Given the description of an element on the screen output the (x, y) to click on. 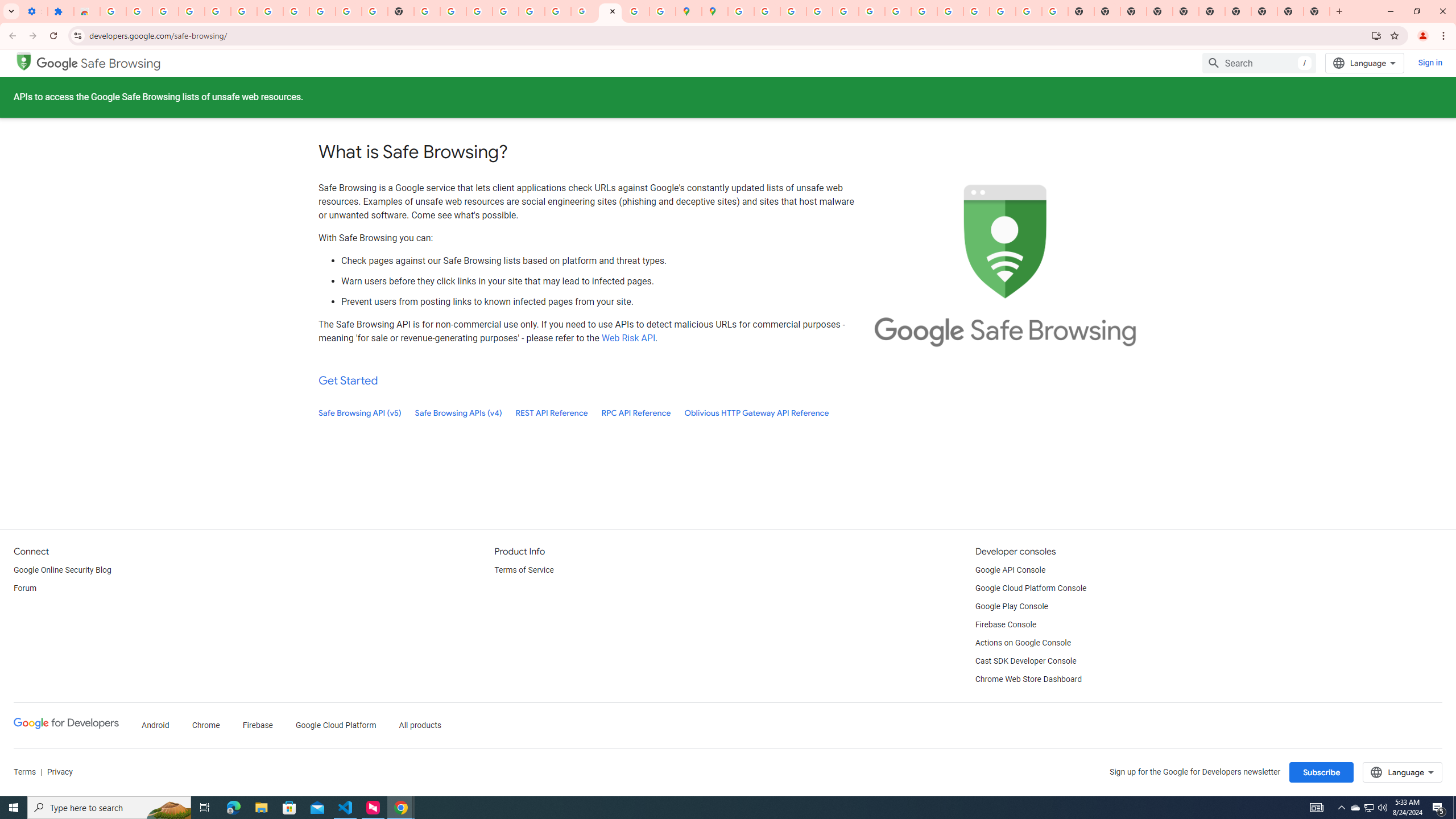
Google Play Console (1011, 606)
Privacy Help Center - Policies Help (792, 11)
Safety in Our Products - Google Safety Center (663, 11)
YouTube (897, 11)
Sign in - Google Accounts (269, 11)
REST API Reference (551, 412)
Google Developers (66, 723)
Sign in - Google Accounts (740, 11)
